Given the description of an element on the screen output the (x, y) to click on. 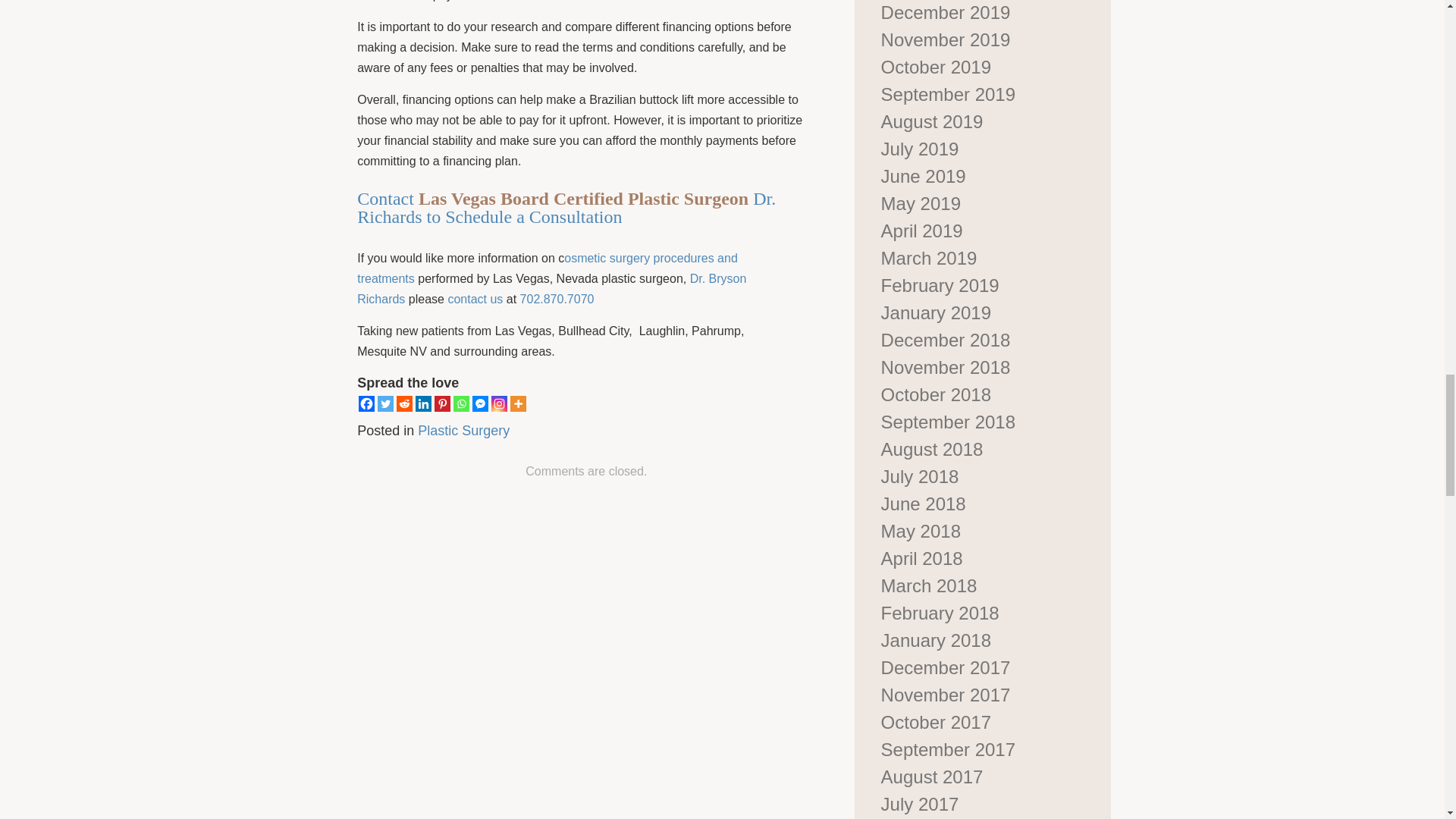
More (518, 403)
Facebook (366, 403)
Linkedin (422, 403)
Whatsapp (460, 403)
Instagram (499, 403)
Pinterest (441, 403)
Reddit (404, 403)
Twitter (385, 403)
